Given the description of an element on the screen output the (x, y) to click on. 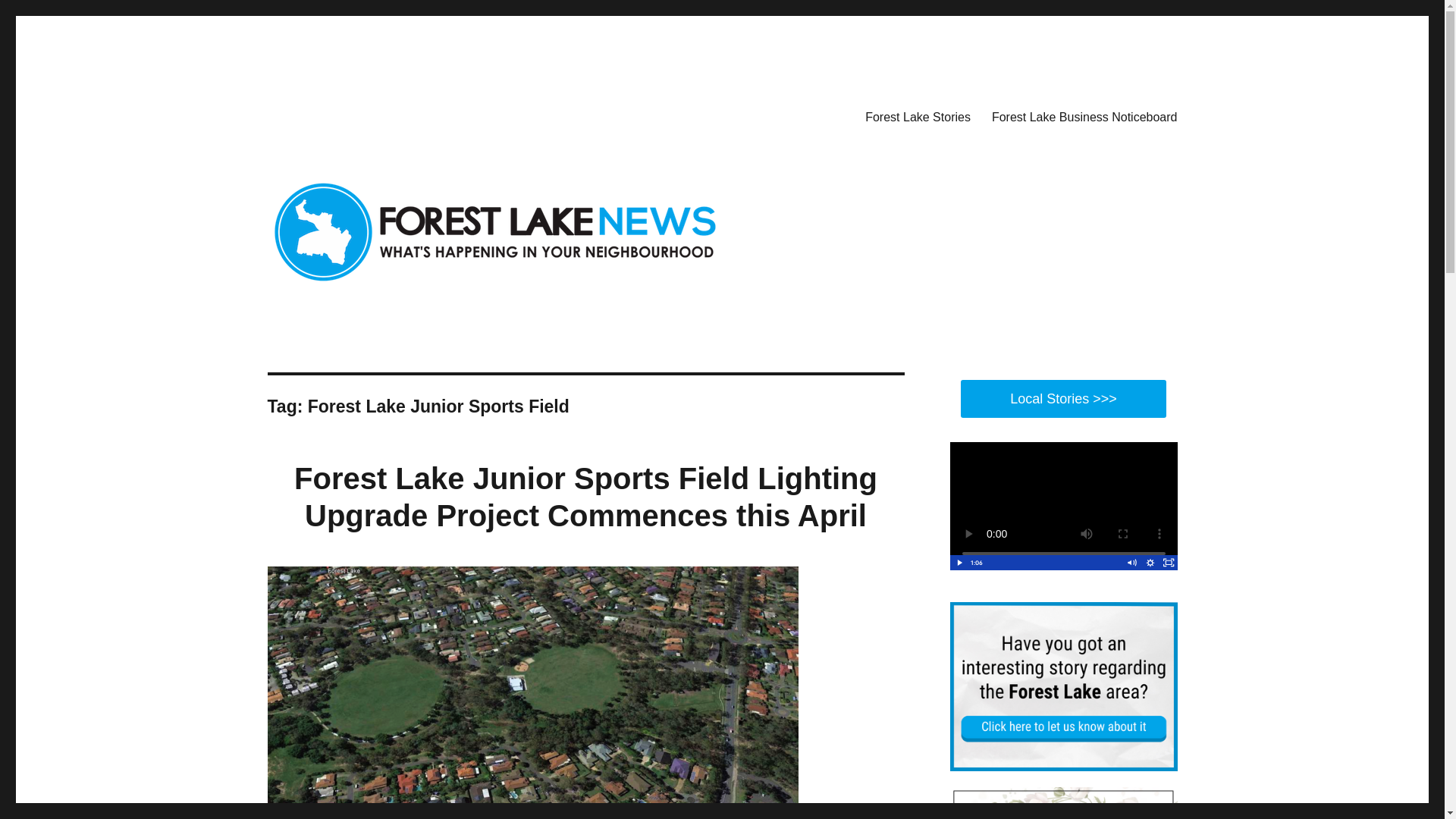
Forest Lake News (356, 114)
Forest Lake Stories (917, 116)
Forest Lake Business Noticeboard (1084, 116)
Show settings menu (1149, 562)
